Given the description of an element on the screen output the (x, y) to click on. 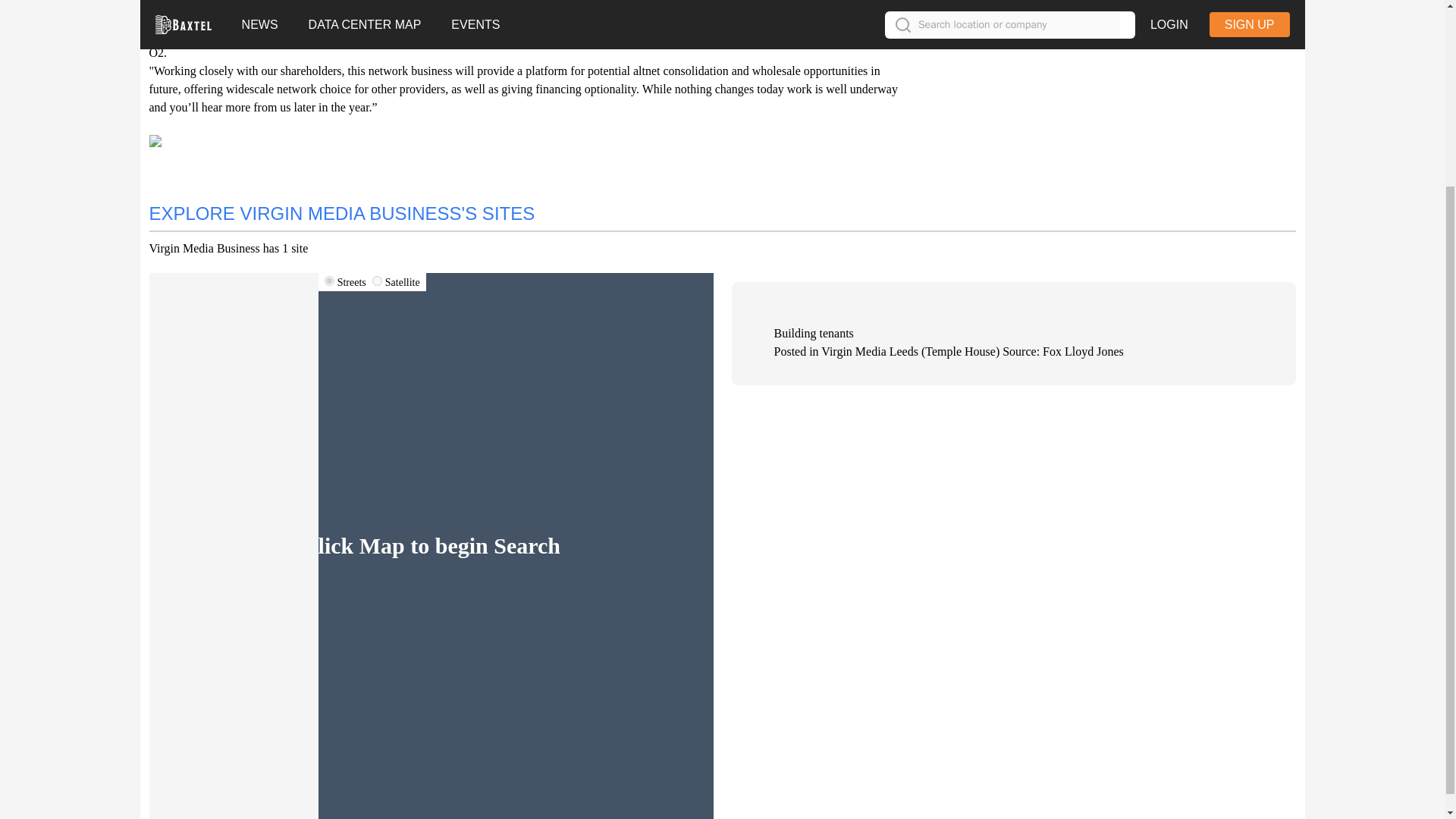
EXPLORE VIRGIN MEDIA BUSINESS'S SITES (341, 213)
streets (329, 280)
satellite (376, 280)
